Given the description of an element on the screen output the (x, y) to click on. 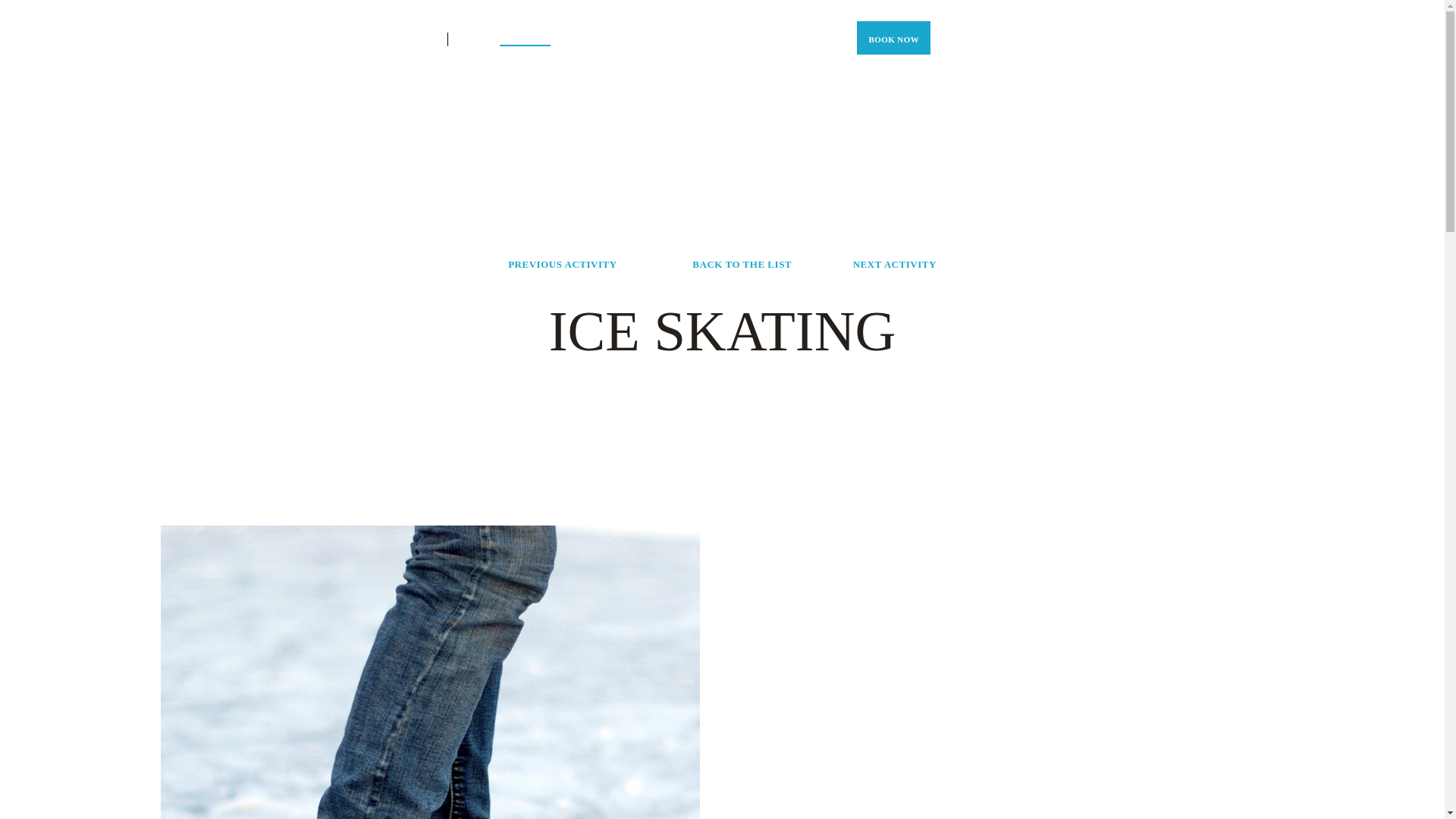
OUR HOUSE (816, 39)
EXPERIENCE (524, 39)
HEALTH (675, 39)
SLEEP (572, 39)
BOOK NOW (893, 37)
HOME (476, 39)
